Given the description of an element on the screen output the (x, y) to click on. 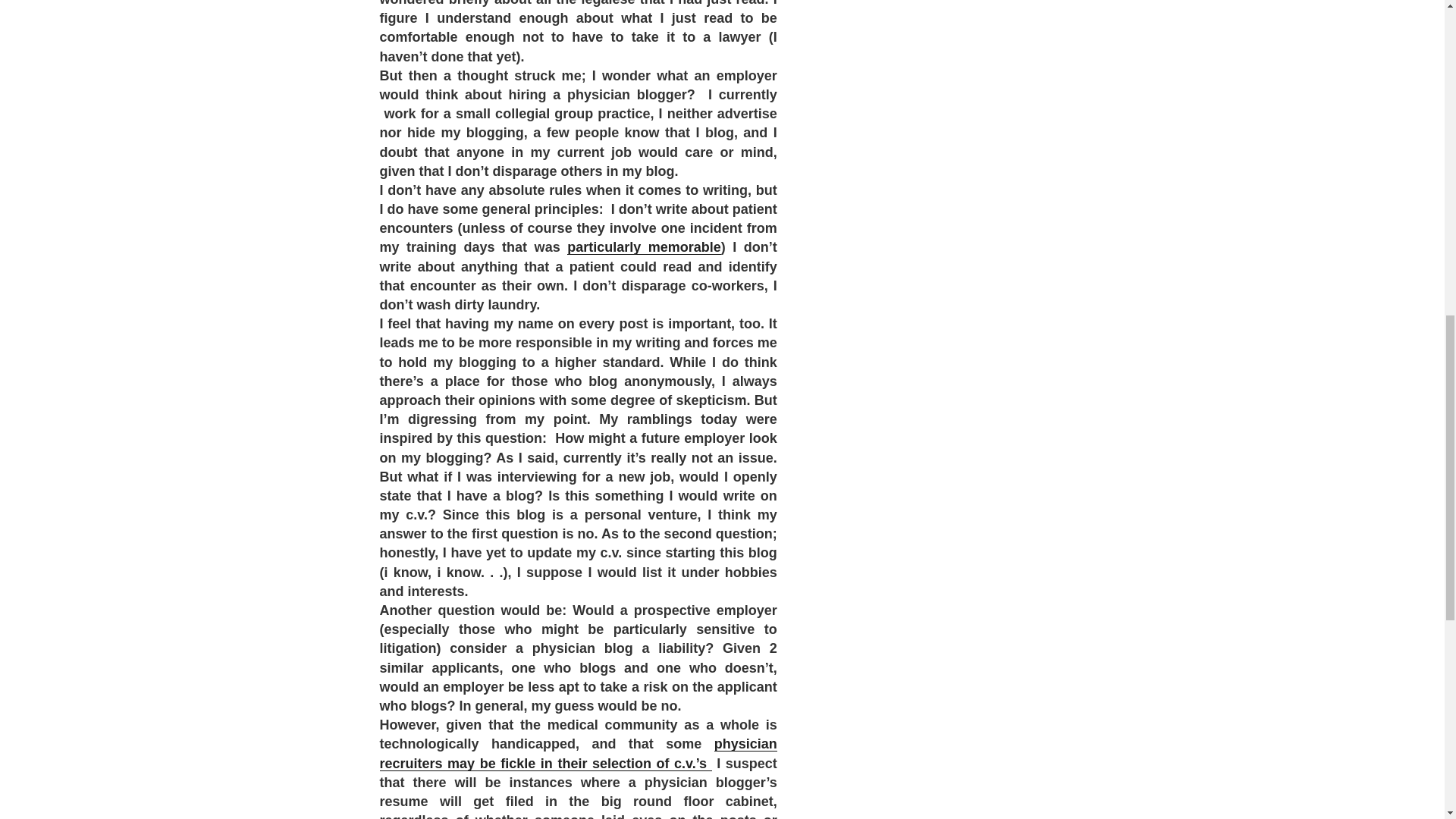
Advair Incident (643, 246)
particularly memorable (643, 246)
